Given the description of an element on the screen output the (x, y) to click on. 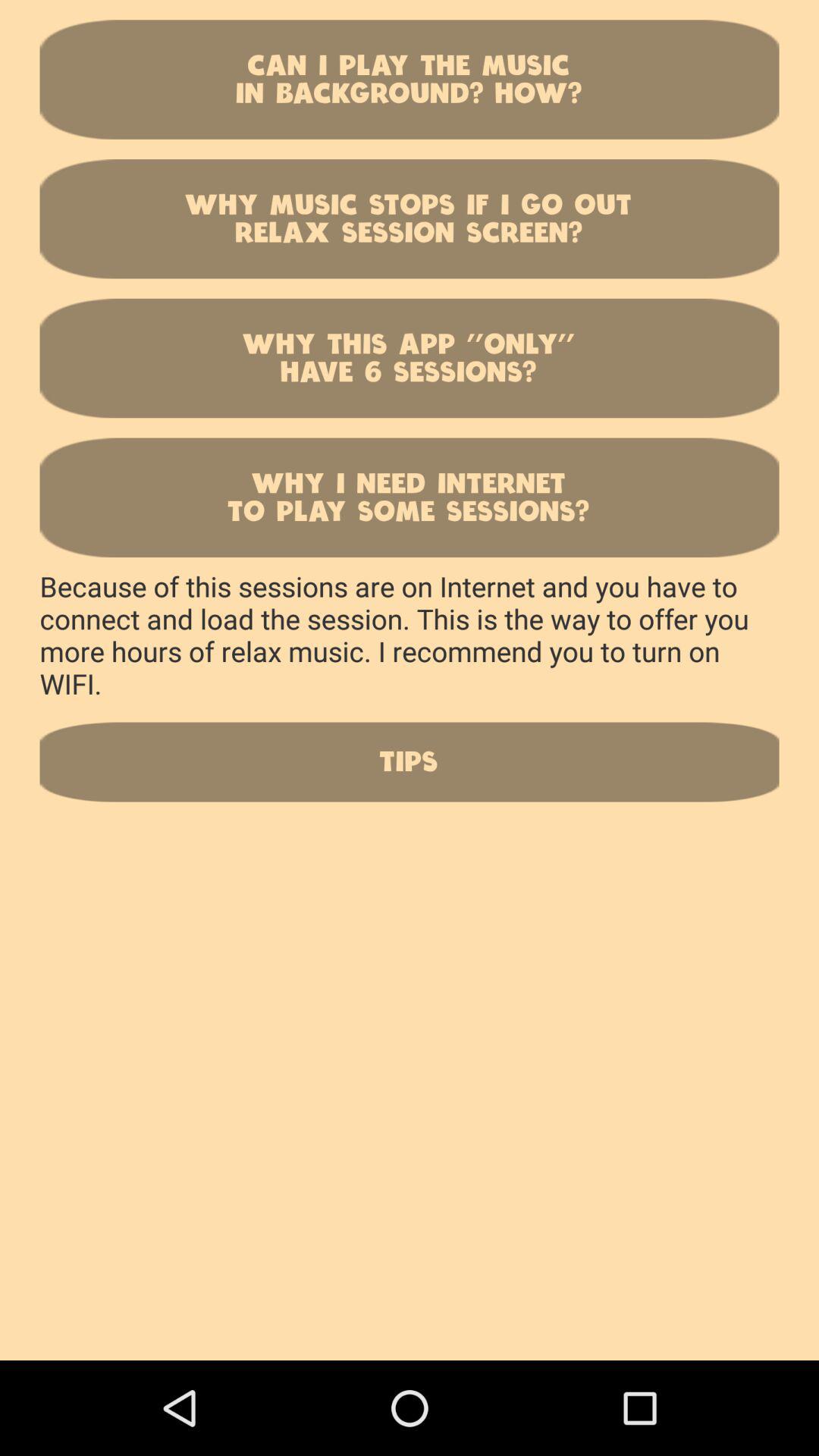
press the item below why music stops (409, 358)
